Given the description of an element on the screen output the (x, y) to click on. 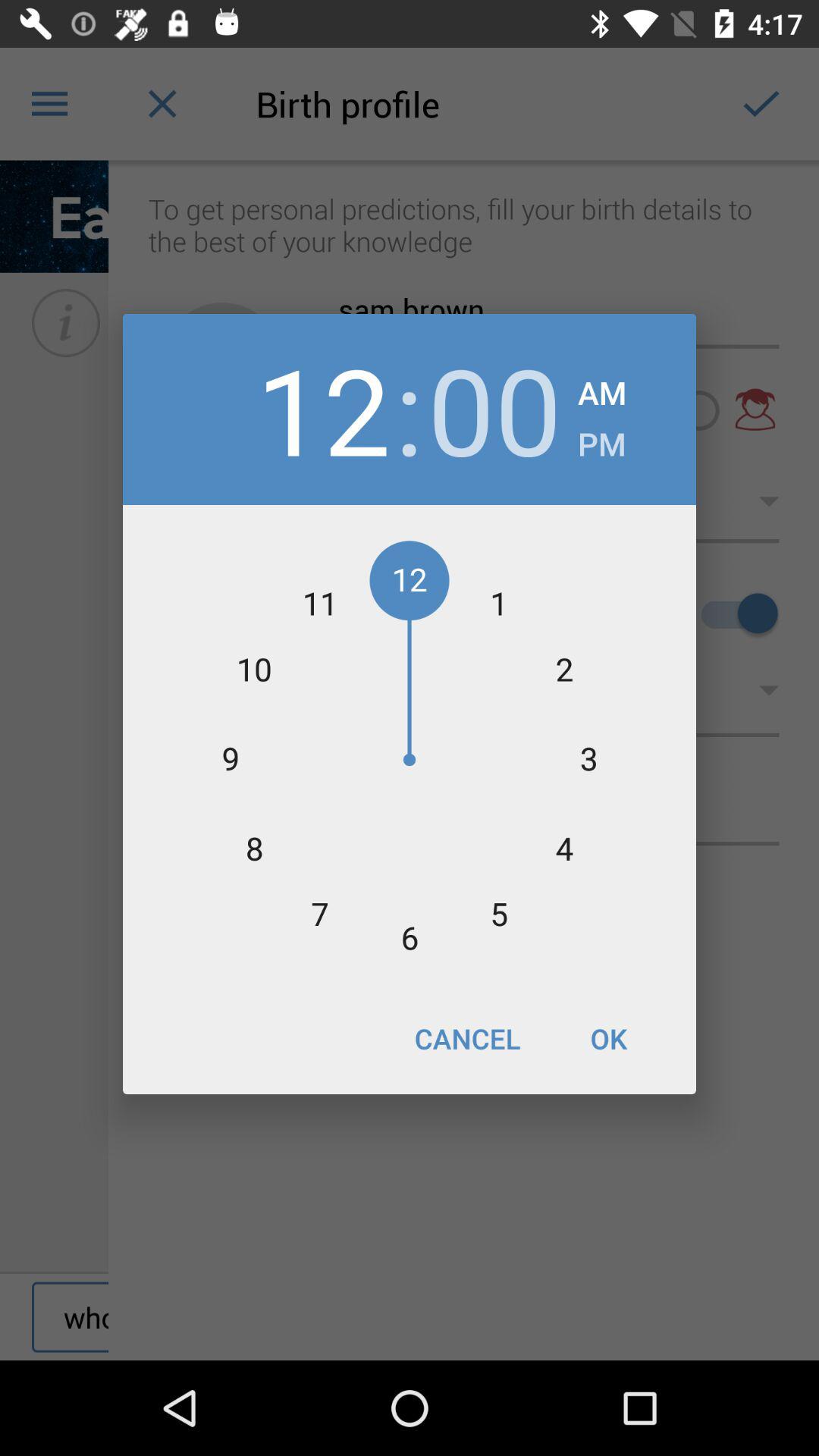
open item to the right of the : icon (494, 408)
